Given the description of an element on the screen output the (x, y) to click on. 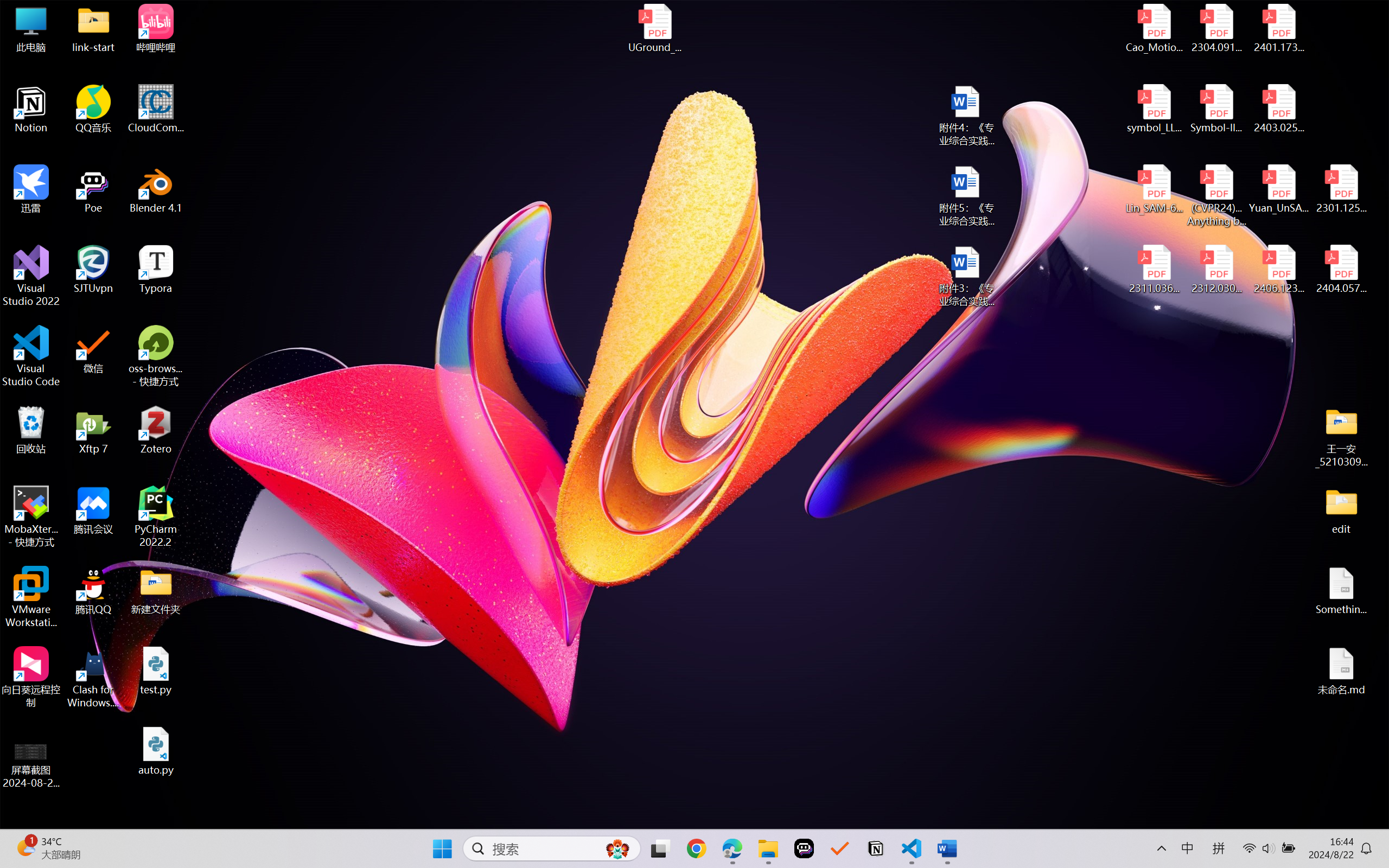
2401.17399v1.pdf (1278, 28)
Something.md (1340, 591)
2304.09121v3.pdf (1216, 28)
2312.03032v2.pdf (1216, 269)
(CVPR24)Matching Anything by Segmenting Anything.pdf (1216, 195)
SJTUvpn (93, 269)
